Given the description of an element on the screen output the (x, y) to click on. 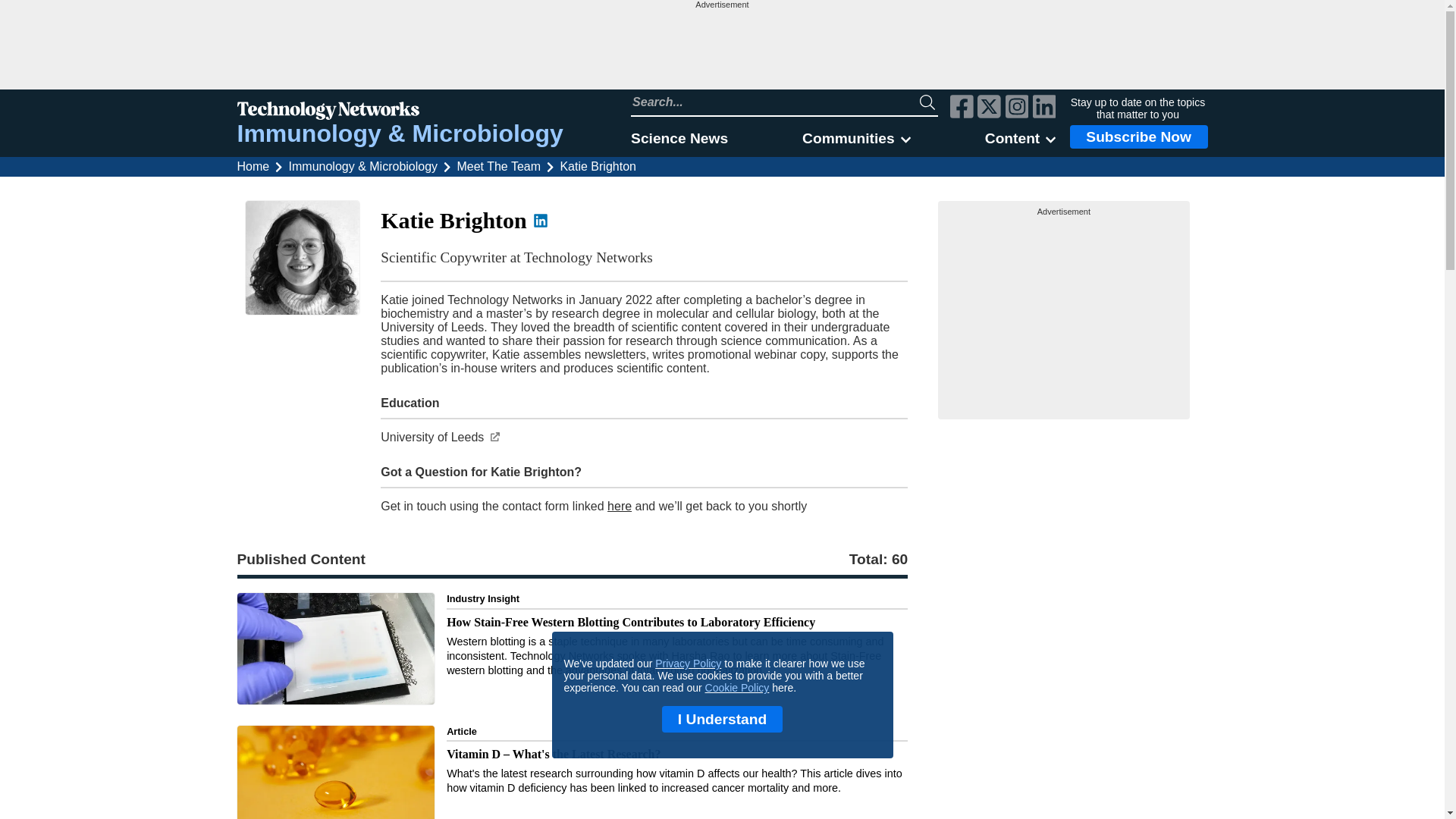
Cookie Policy (737, 687)
I Understand (722, 718)
3rd party ad content (721, 49)
Privacy Policy (687, 663)
Technology Networks logo (398, 112)
Search Technology Networks website input field (775, 102)
3rd party ad content (1063, 312)
